Given the description of an element on the screen output the (x, y) to click on. 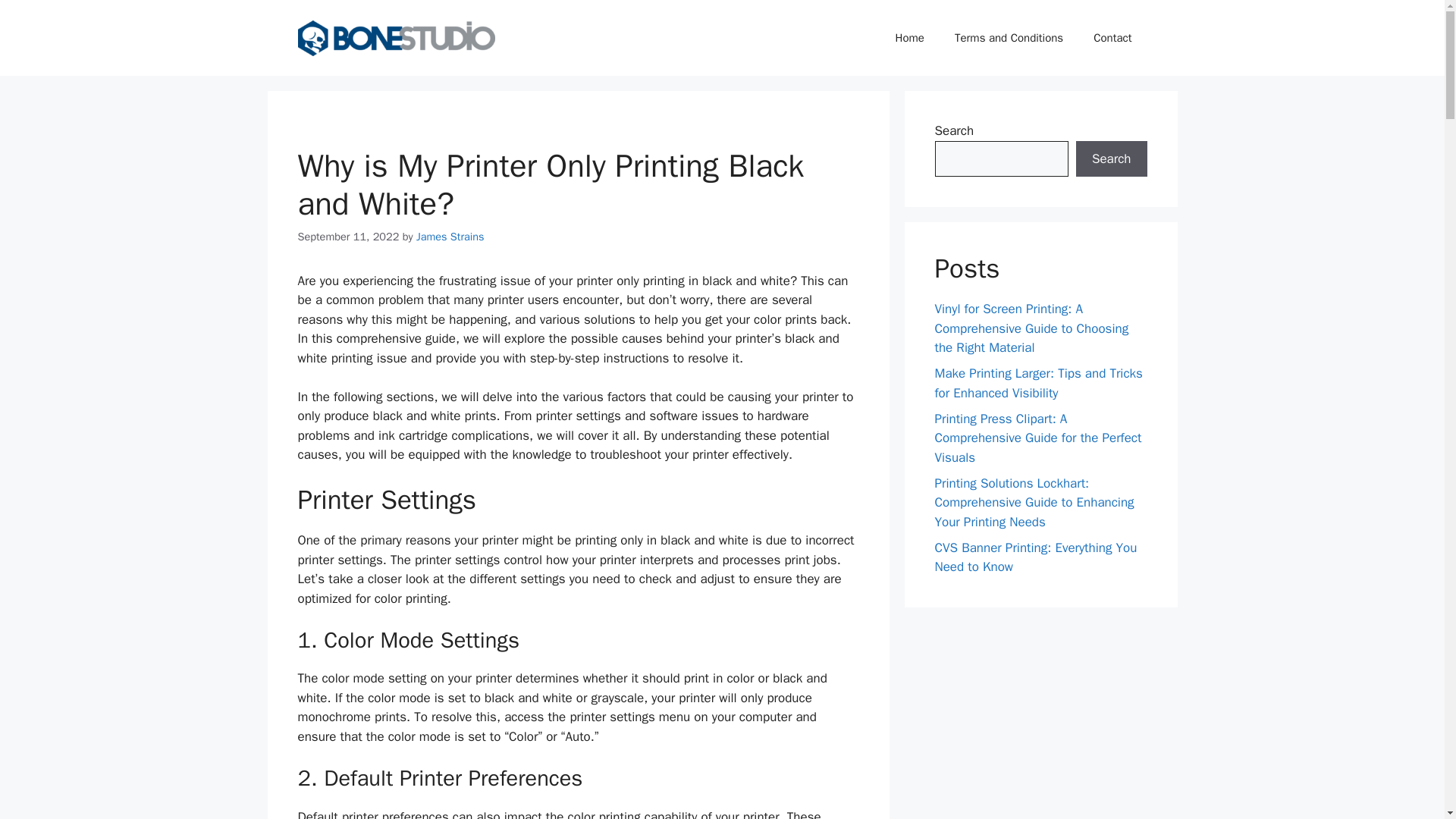
Terms and Conditions (1008, 37)
James Strains (450, 236)
Contact (1112, 37)
Home (909, 37)
Search (1111, 158)
CVS Banner Printing: Everything You Need to Know (1035, 557)
View all posts by James Strains (450, 236)
